Given the description of an element on the screen output the (x, y) to click on. 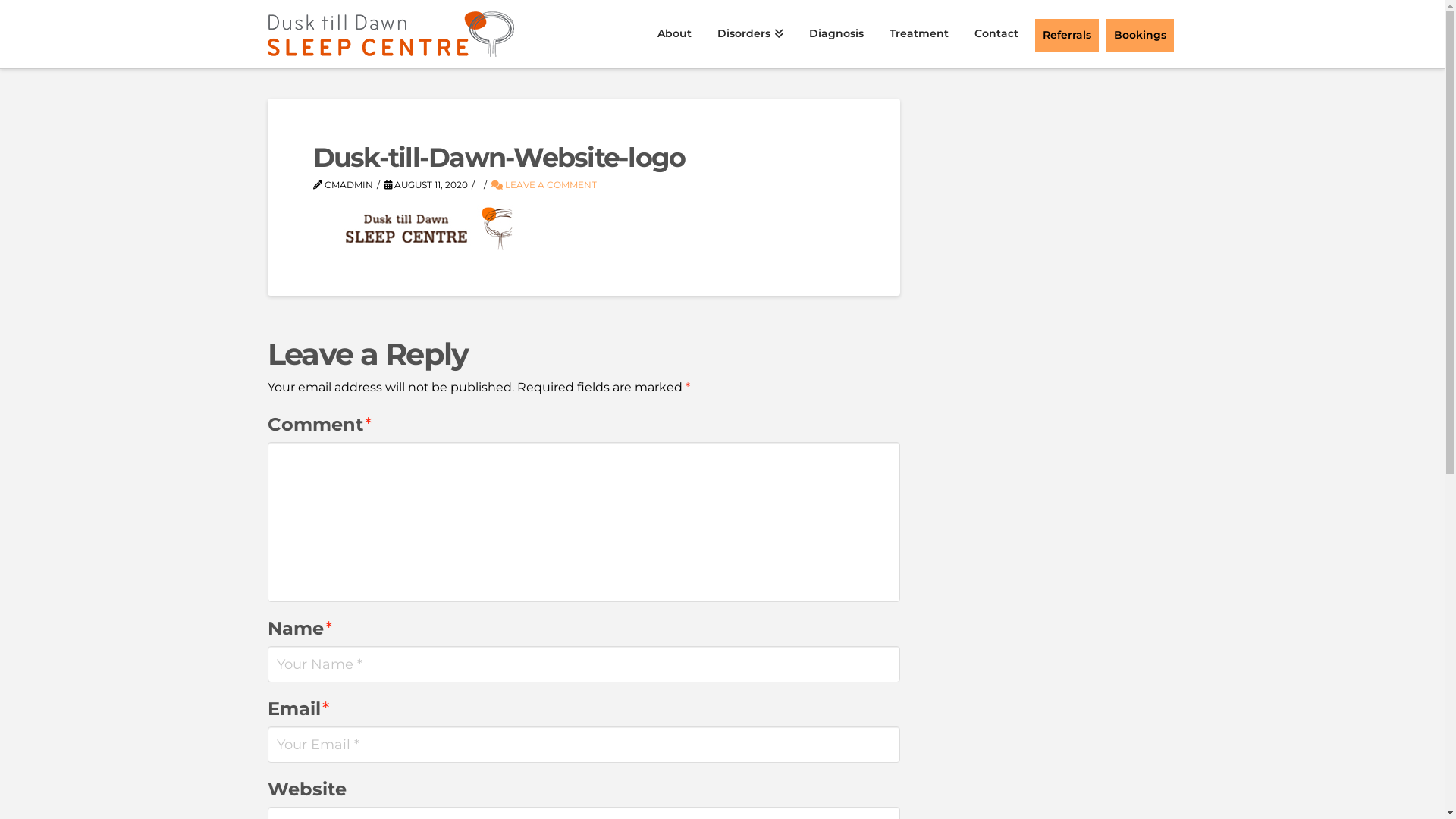
Treatment Element type: text (918, 34)
LEAVE A COMMENT Element type: text (543, 184)
Referrals Element type: text (1066, 35)
Disorders Element type: text (750, 34)
Contact Element type: text (996, 34)
About Element type: text (674, 34)
Referrals Element type: text (1066, 34)
Diagnosis Element type: text (836, 34)
Bookings Element type: text (1139, 35)
Bookings Element type: text (1139, 34)
